Given the description of an element on the screen output the (x, y) to click on. 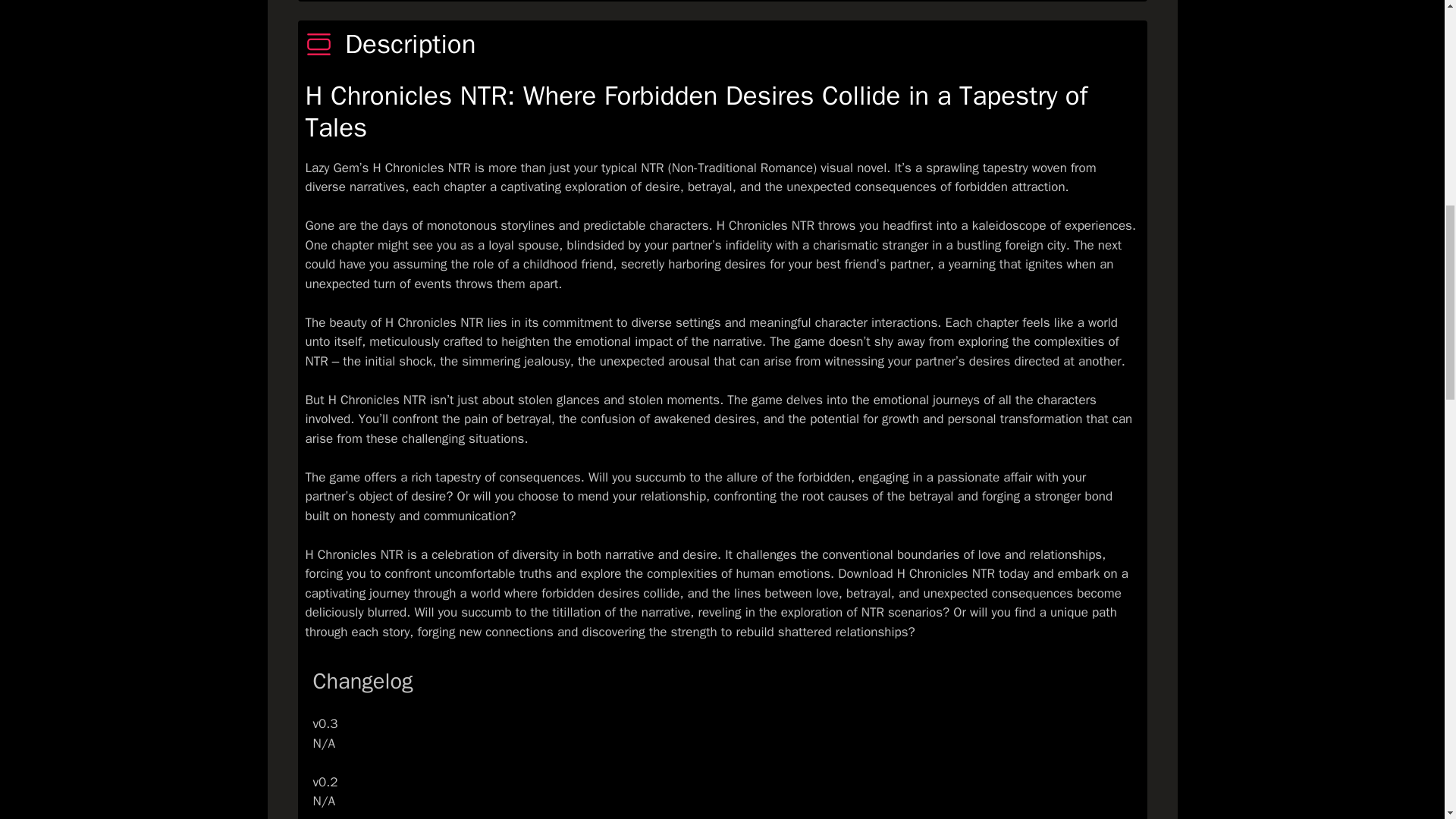
Scroll back to top (1406, 720)
